Given the description of an element on the screen output the (x, y) to click on. 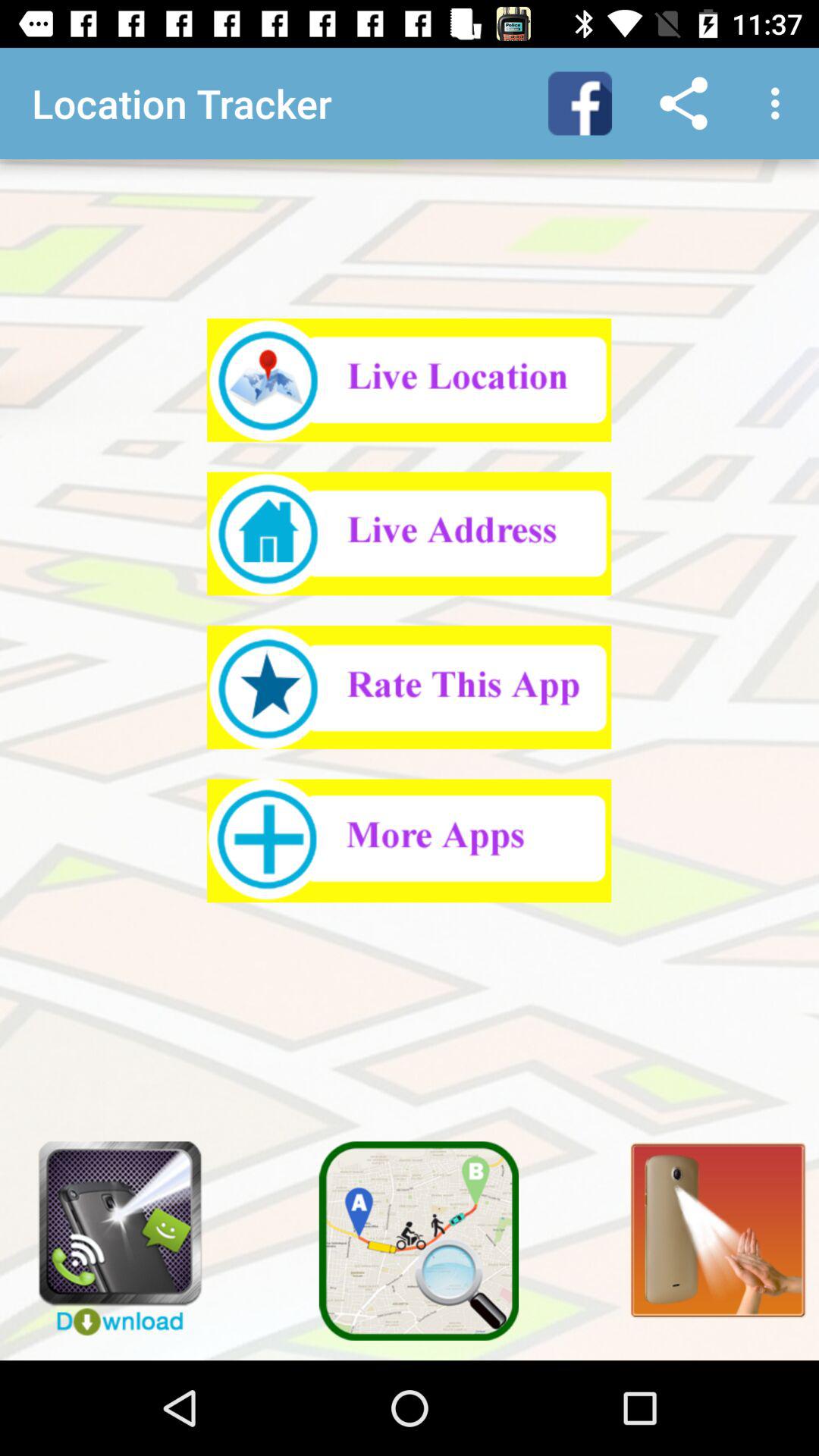
go to app store (409, 840)
